Given the description of an element on the screen output the (x, y) to click on. 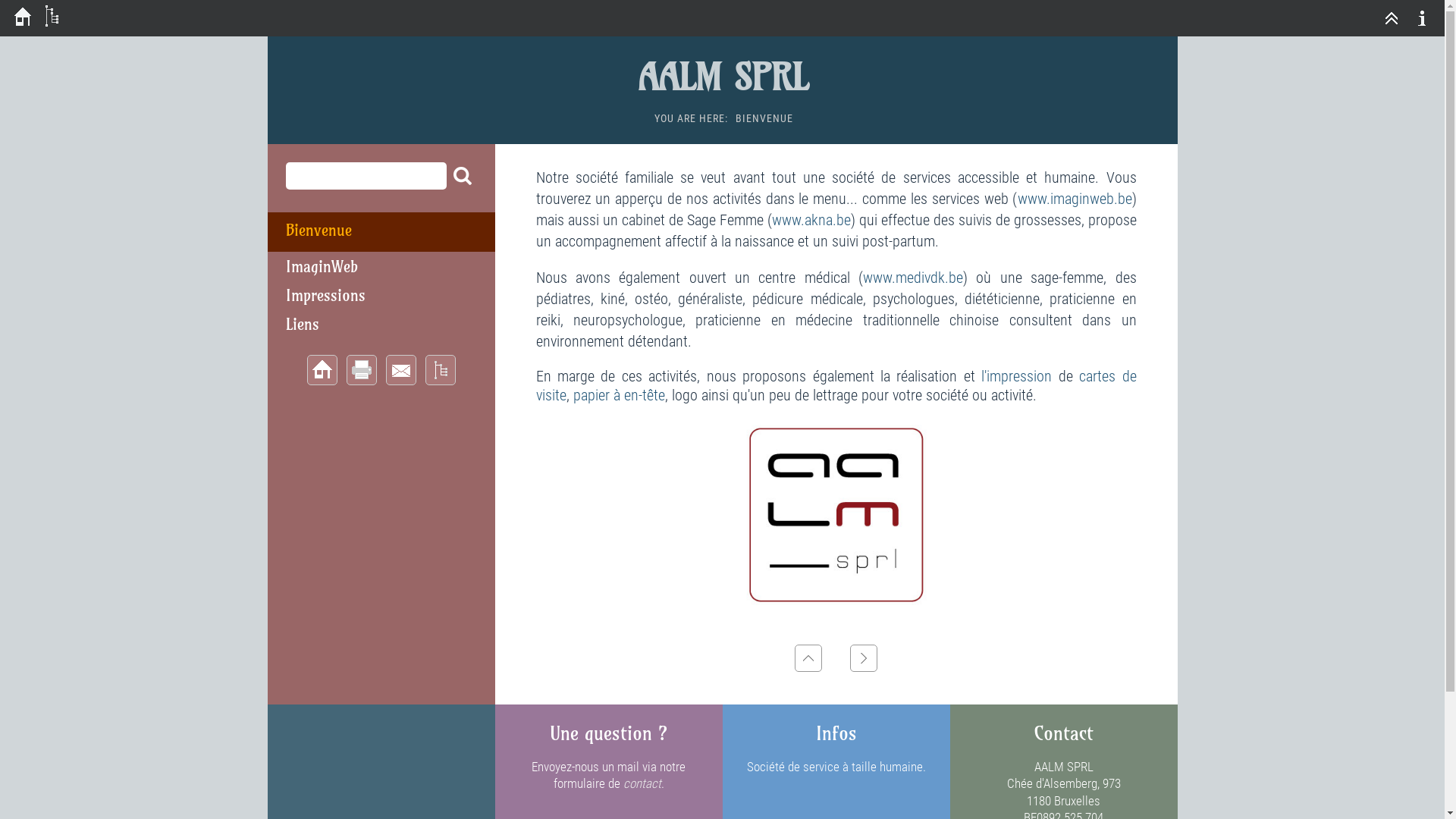
Liens Element type: text (301, 323)
Search Element type: hover (460, 176)
www.medivdk.be Element type: text (912, 277)
Home Element type: hover (321, 369)
www.akna.be Element type: text (810, 219)
Mailform Element type: hover (400, 369)
Print view Element type: hover (360, 369)
Sitemap Element type: hover (439, 369)
Impressions Element type: text (324, 294)
www.imaginweb.be Element type: text (1074, 198)
cartes de visite Element type: text (835, 385)
top Element type: hover (808, 657)
l'impression Element type: text (1016, 376)
ImaginWeb Element type: text (321, 266)
Logo10x10.jpg Element type: hover (836, 514)
contact Element type: text (642, 782)
